Given the description of an element on the screen output the (x, y) to click on. 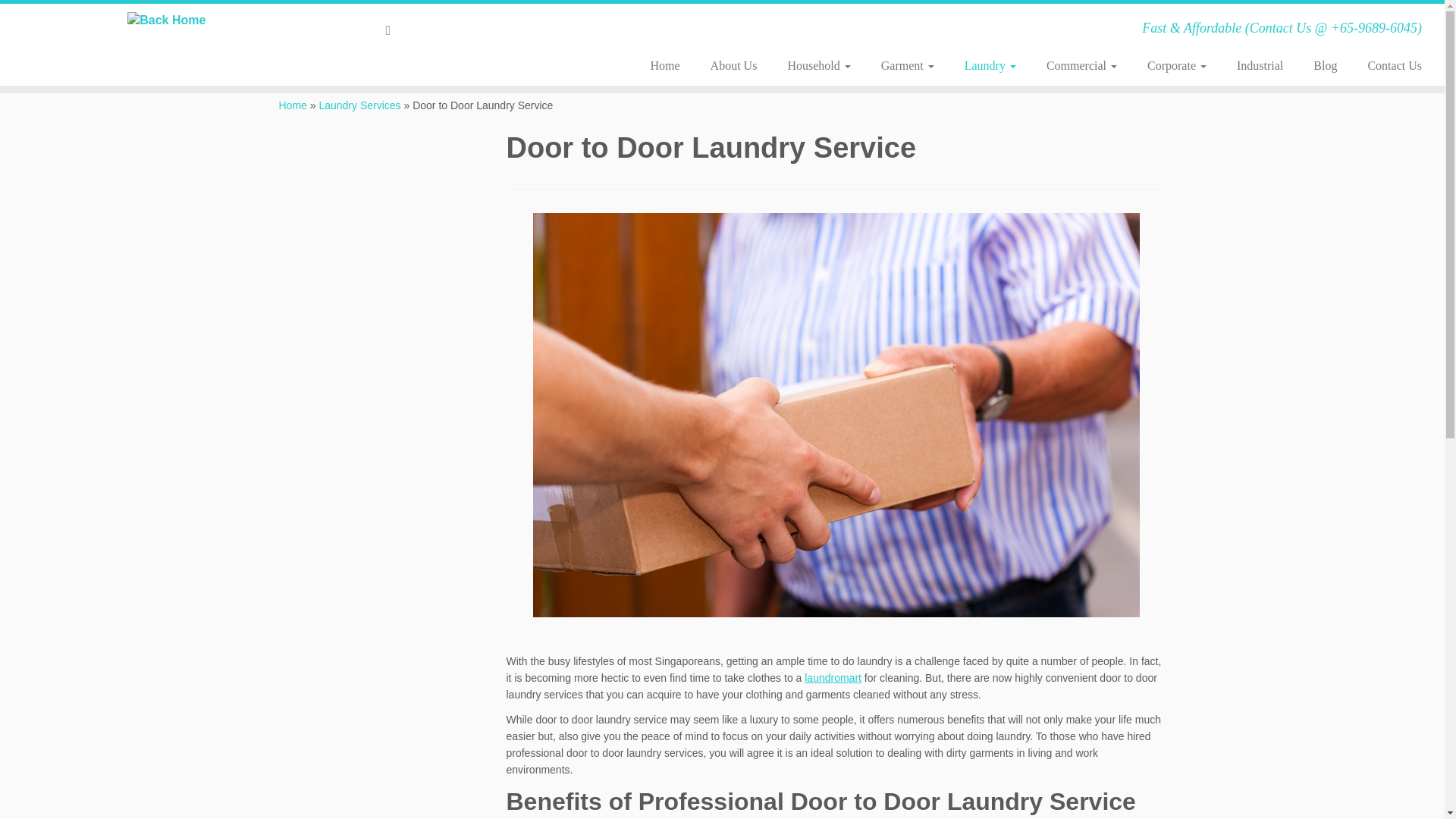
Home (664, 65)
Household (817, 65)
Garment (907, 65)
Subscribe to my rss feed (392, 29)
About Us (734, 65)
Professional Laundry And Dry Cleaning Service (293, 105)
Laundry Services (359, 105)
Laundry (989, 65)
